Given the description of an element on the screen output the (x, y) to click on. 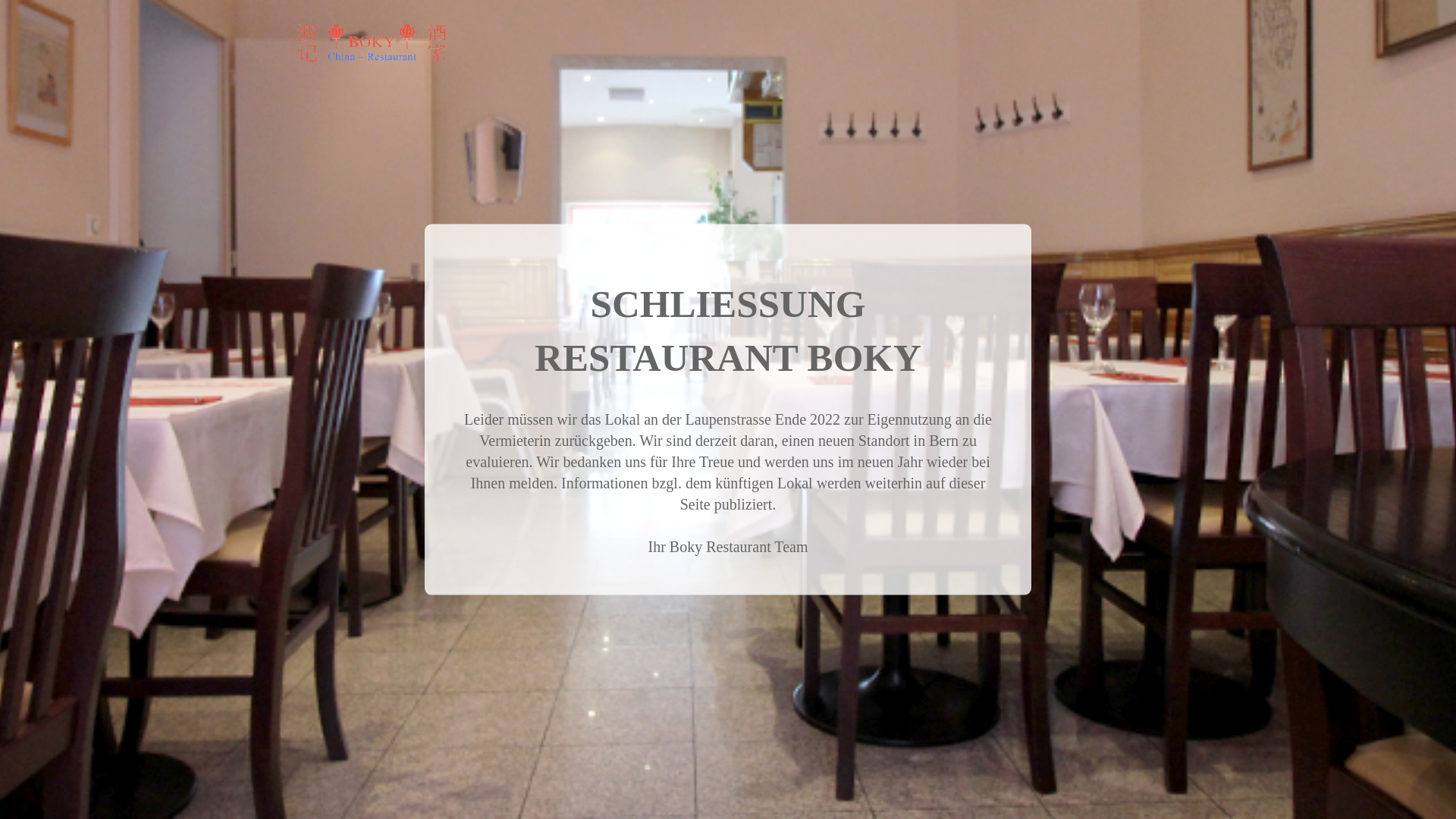
Speisekarte Element type: text (1044, 15)
DESSERT Element type: text (923, 65)
HAUPTGANG Element type: text (829, 65)
VORSPEISE Element type: text (728, 65)
+41 31 382 28 28 Element type: text (354, 15)
Reservation Element type: text (1129, 15)
RESERVE Element type: text (1316, 366)
